Given the description of an element on the screen output the (x, y) to click on. 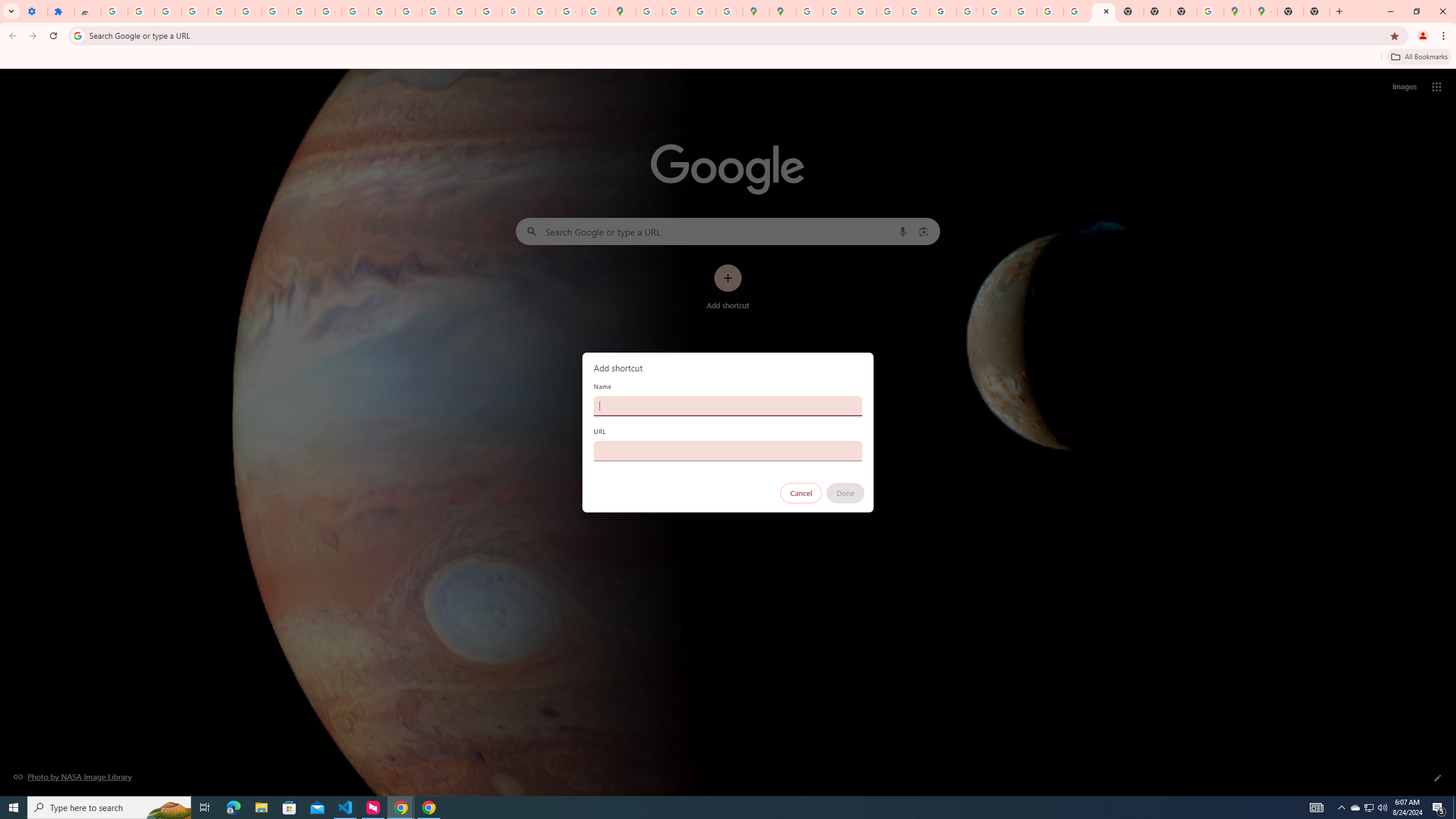
Sign in - Google Accounts (221, 11)
Learn how to find your photos - Google Photos Help (167, 11)
New Tab (1316, 11)
Delete photos & videos - Computer - Google Photos Help (141, 11)
Settings - On startup (34, 11)
